Given the description of an element on the screen output the (x, y) to click on. 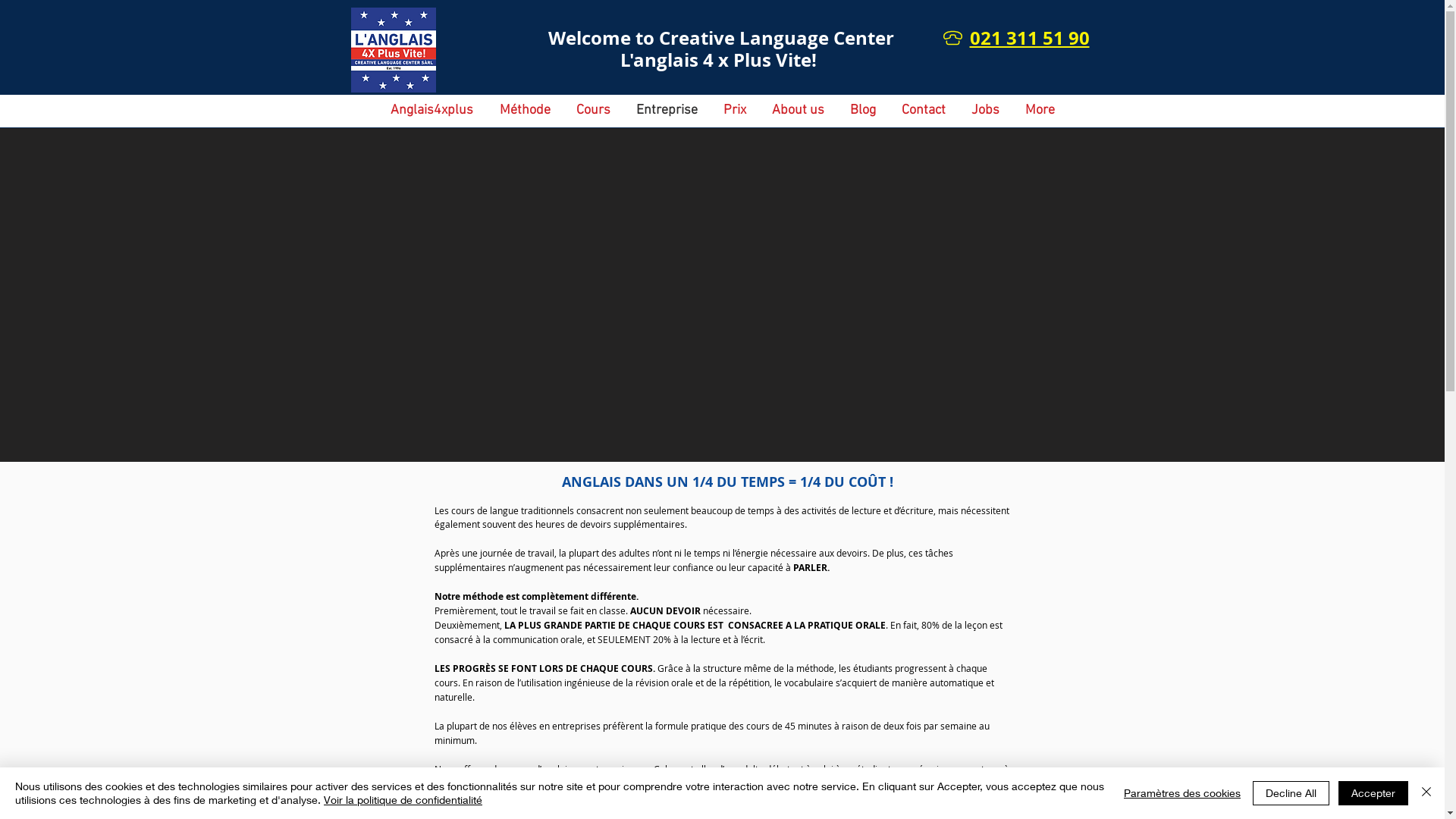
Accepter Element type: text (1373, 793)
Jobs Element type: text (985, 110)
Prix Element type: text (733, 110)
Decline All Element type: text (1290, 793)
About us Element type: text (797, 110)
Blog Element type: text (862, 110)
Cours Element type: text (592, 110)
021 311 51 90 Element type: text (1028, 37)
Entreprise Element type: text (666, 110)
Anglais4xplus Element type: text (431, 110)
Contact Element type: text (923, 110)
